Given the description of an element on the screen output the (x, y) to click on. 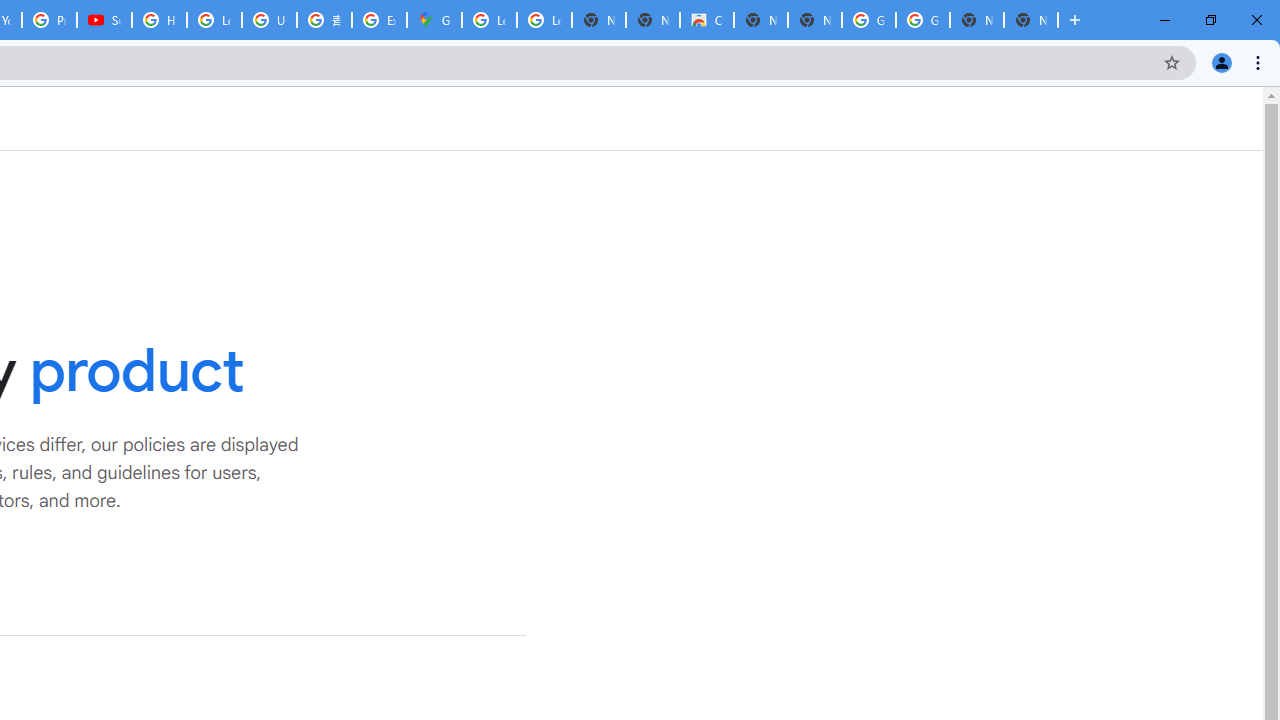
How Chrome protects your passwords - Google Chrome Help (158, 20)
